Given the description of an element on the screen output the (x, y) to click on. 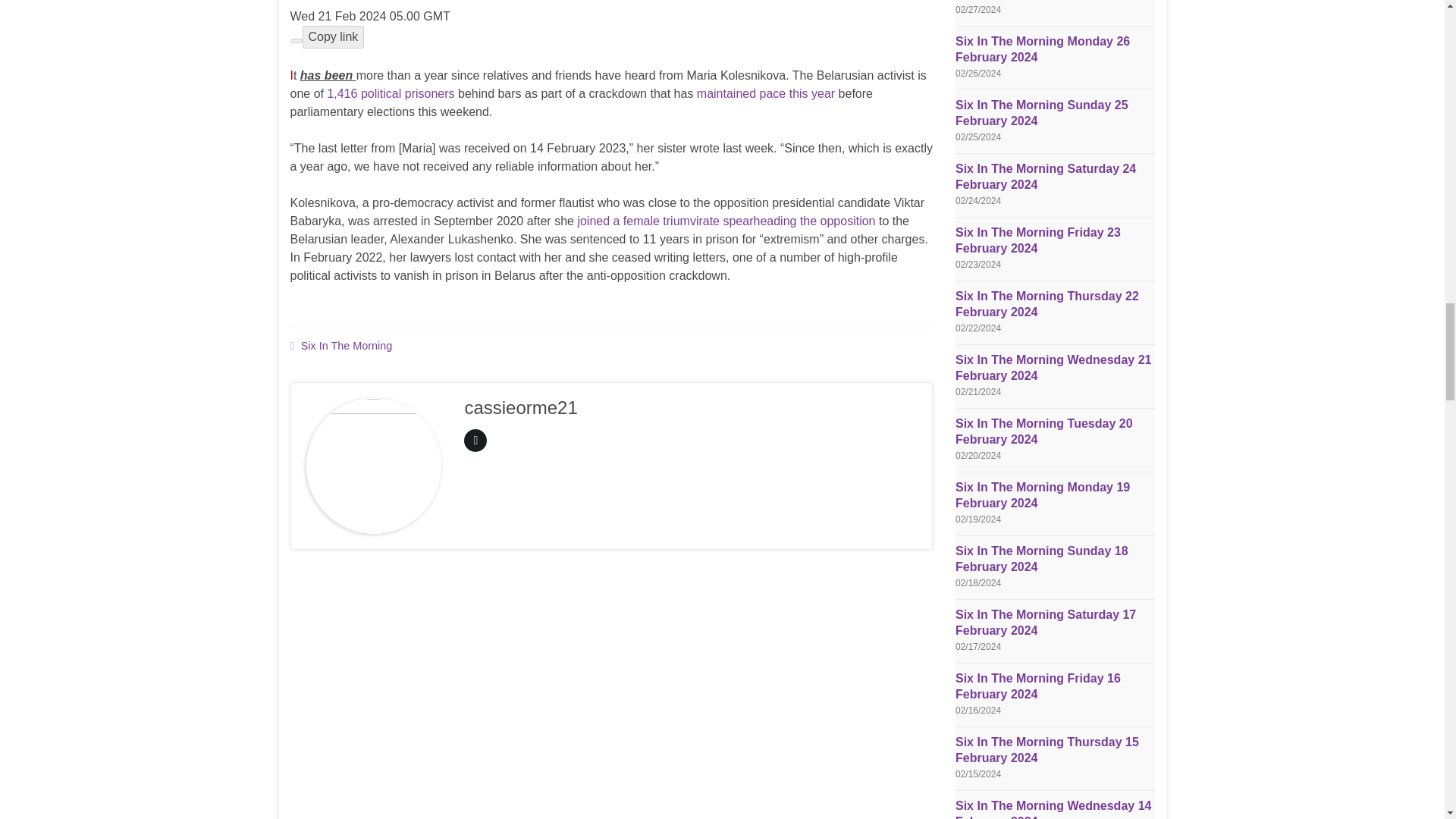
maintained pace this year (765, 92)
1,416 political prisoners (390, 92)
Copy link (332, 36)
joined a female triumvirate spearheading the opposition (725, 220)
Six In The Morning (347, 345)
Tags (291, 345)
